Given the description of an element on the screen output the (x, y) to click on. 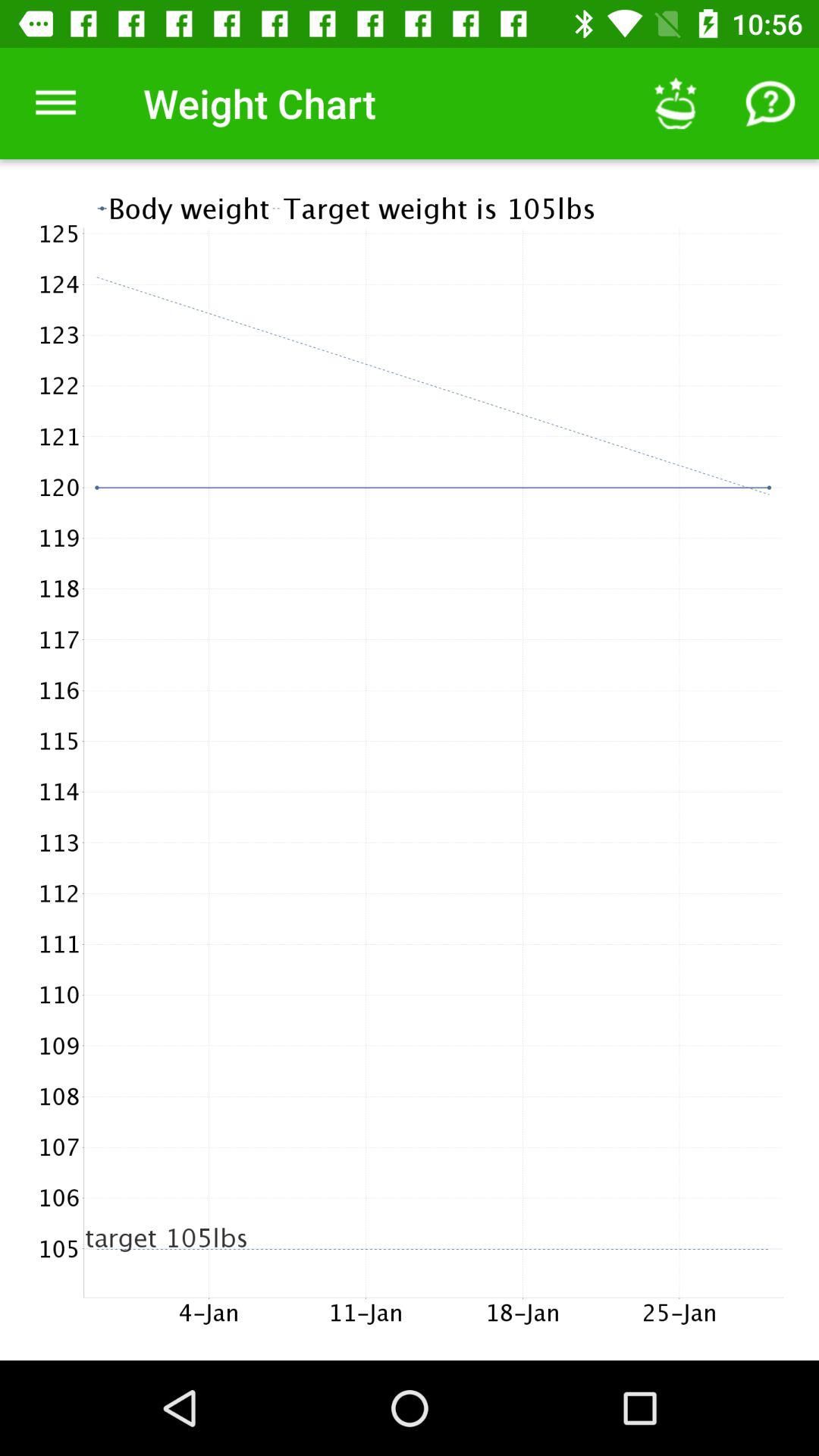
choose the icon next to the weight chart icon (675, 103)
